Given the description of an element on the screen output the (x, y) to click on. 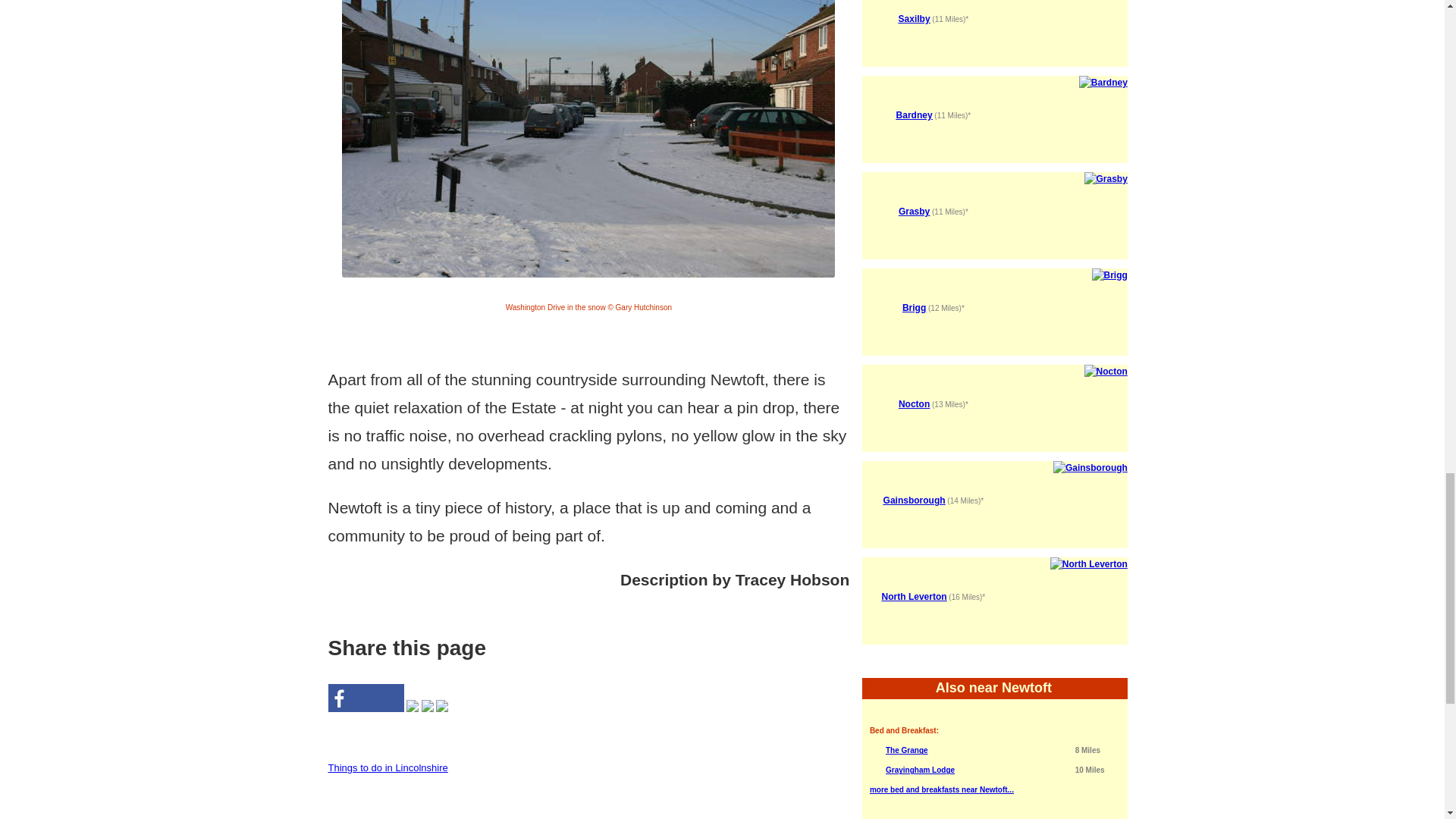
more Bed and Breakfasts near Newtoft (941, 789)
